Given the description of an element on the screen output the (x, y) to click on. 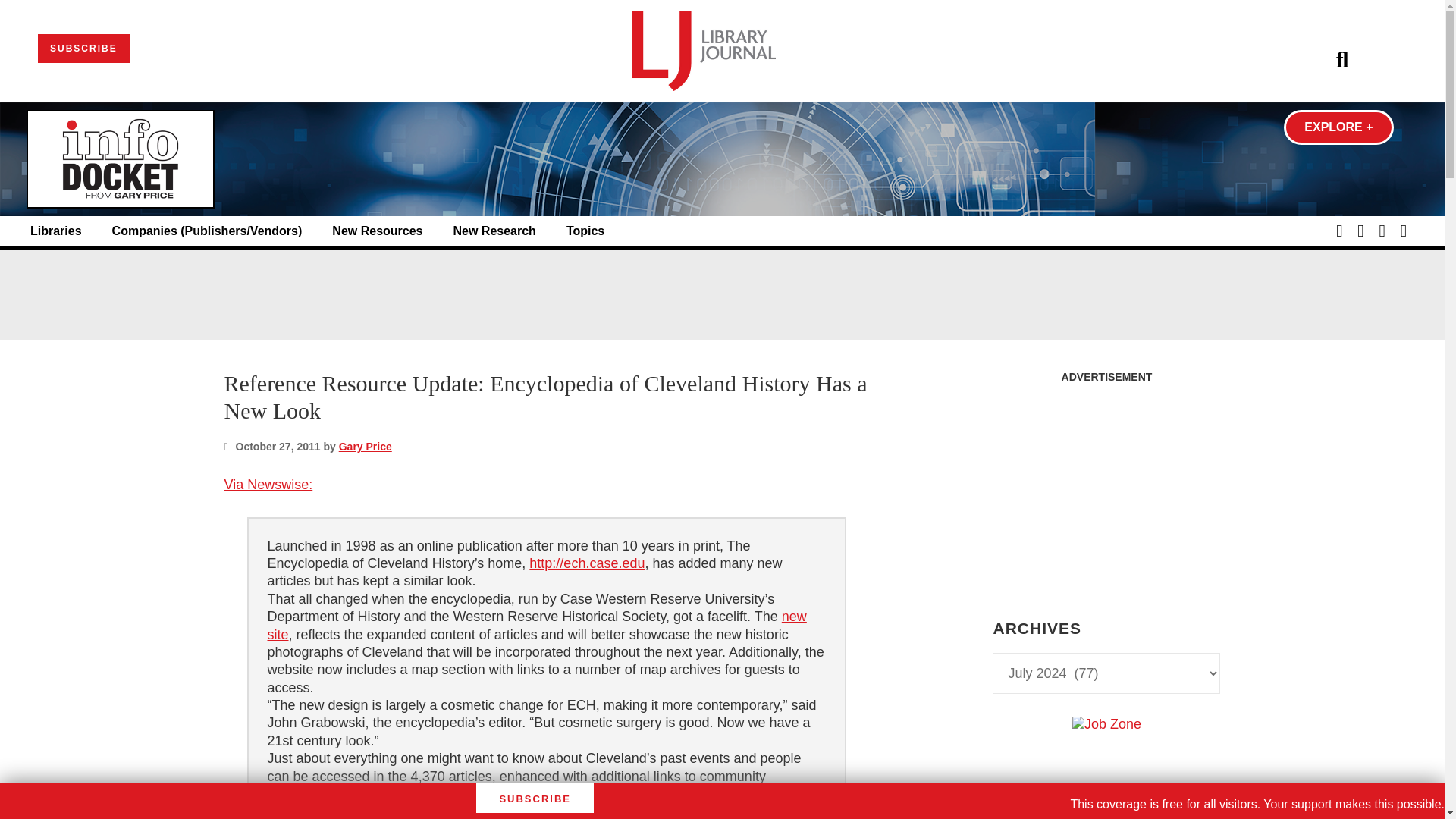
3rd party ad content (721, 294)
SUBSCRIBE (83, 48)
3rd party ad content (1106, 485)
New Resources (376, 231)
Libraries (55, 231)
3rd party ad content (1106, 816)
